Given the description of an element on the screen output the (x, y) to click on. 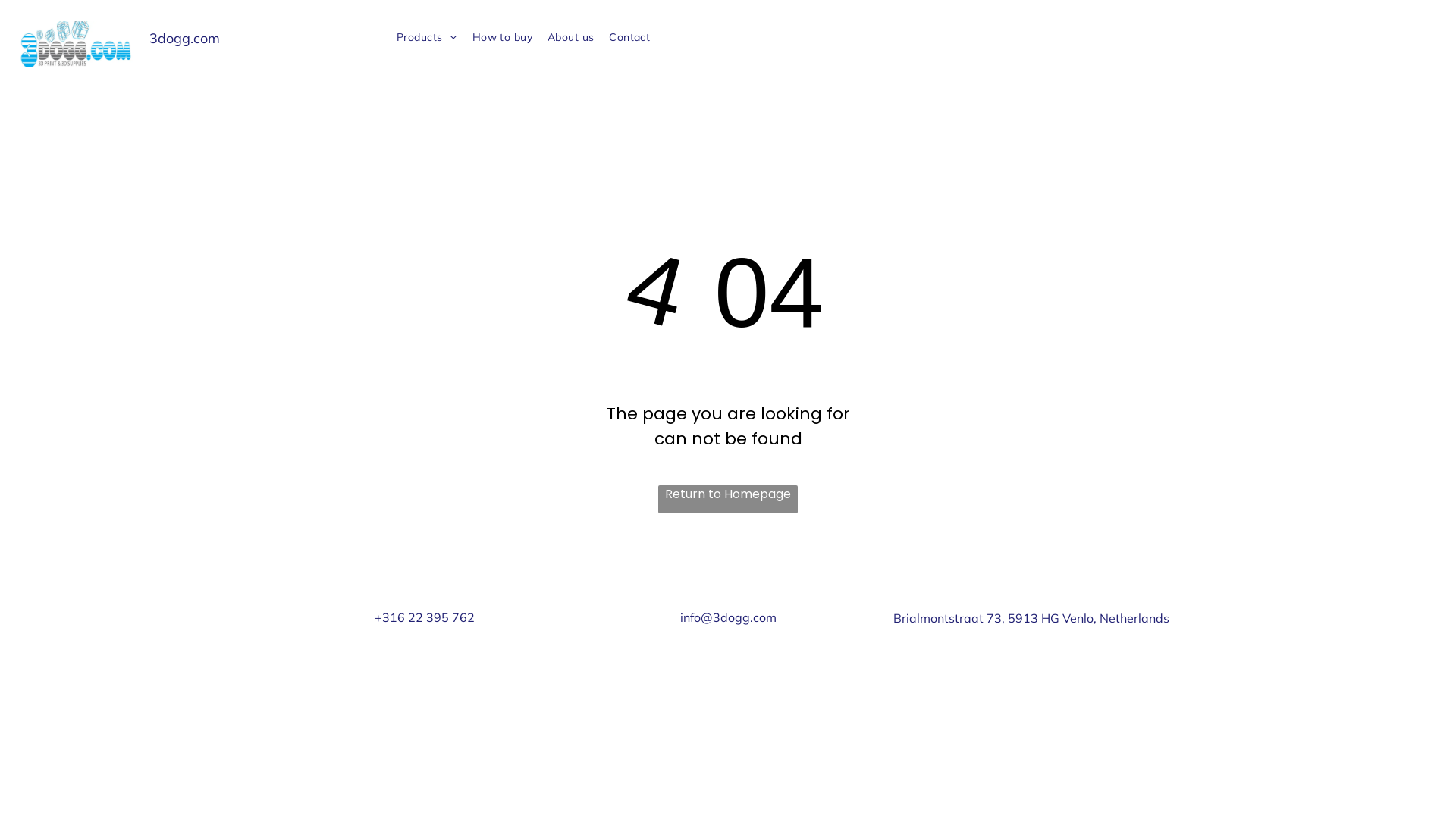
Contact Element type: text (629, 37)
Return to Homepage Element type: text (727, 499)
Products Element type: text (426, 37)
How to buy Element type: text (501, 37)
info@3dogg.com Element type: text (727, 617)
About us Element type: text (570, 37)
+316 22 395 762 Element type: text (424, 617)
